Given the description of an element on the screen output the (x, y) to click on. 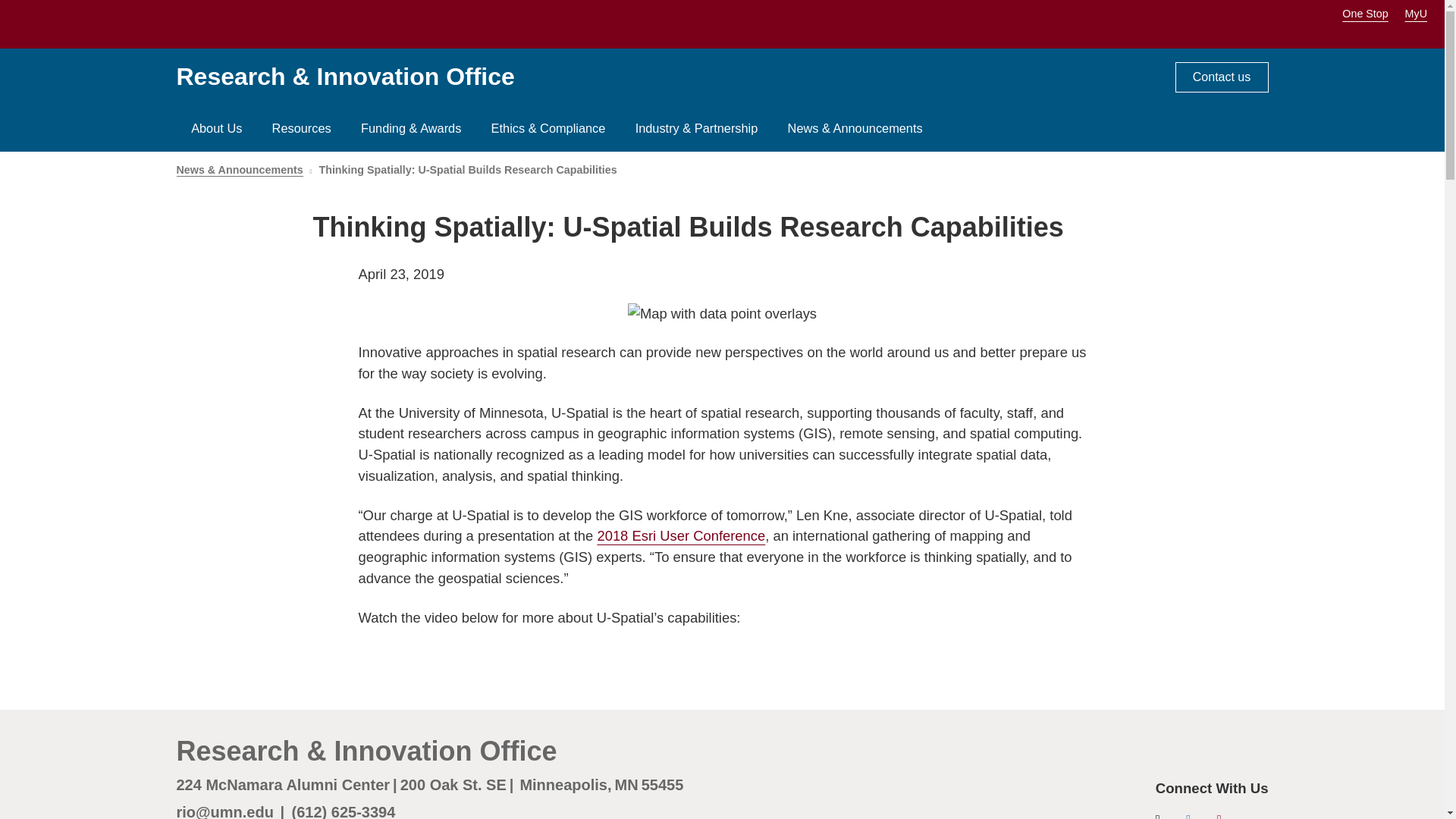
One Stop (1364, 13)
MyU (1421, 13)
Contact us (1221, 77)
